Given the description of an element on the screen output the (x, y) to click on. 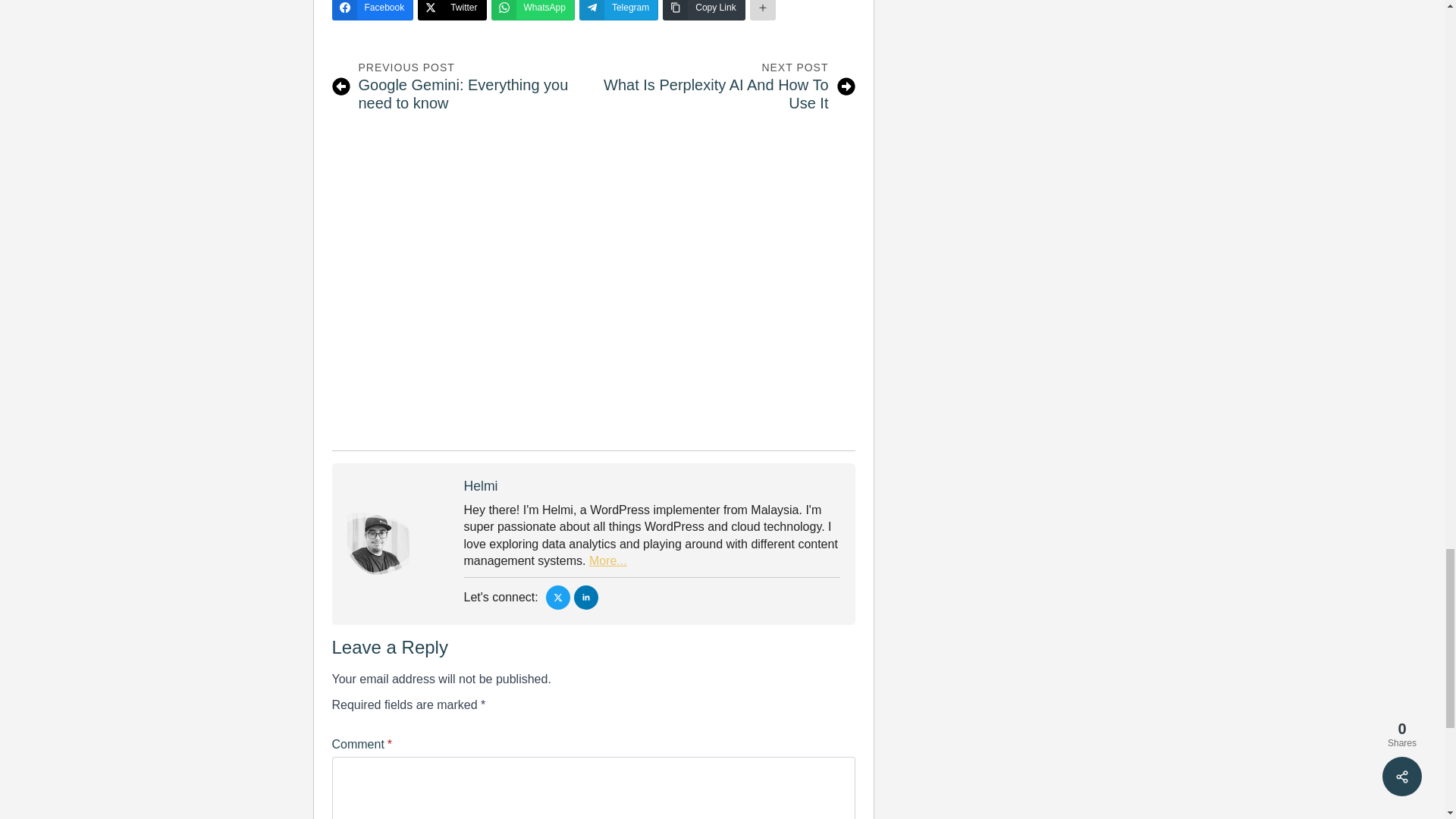
WhatsApp (533, 10)
Facebook (372, 10)
More... (608, 560)
Copy Link (458, 86)
Telegram (703, 10)
Twitter (726, 86)
